Given the description of an element on the screen output the (x, y) to click on. 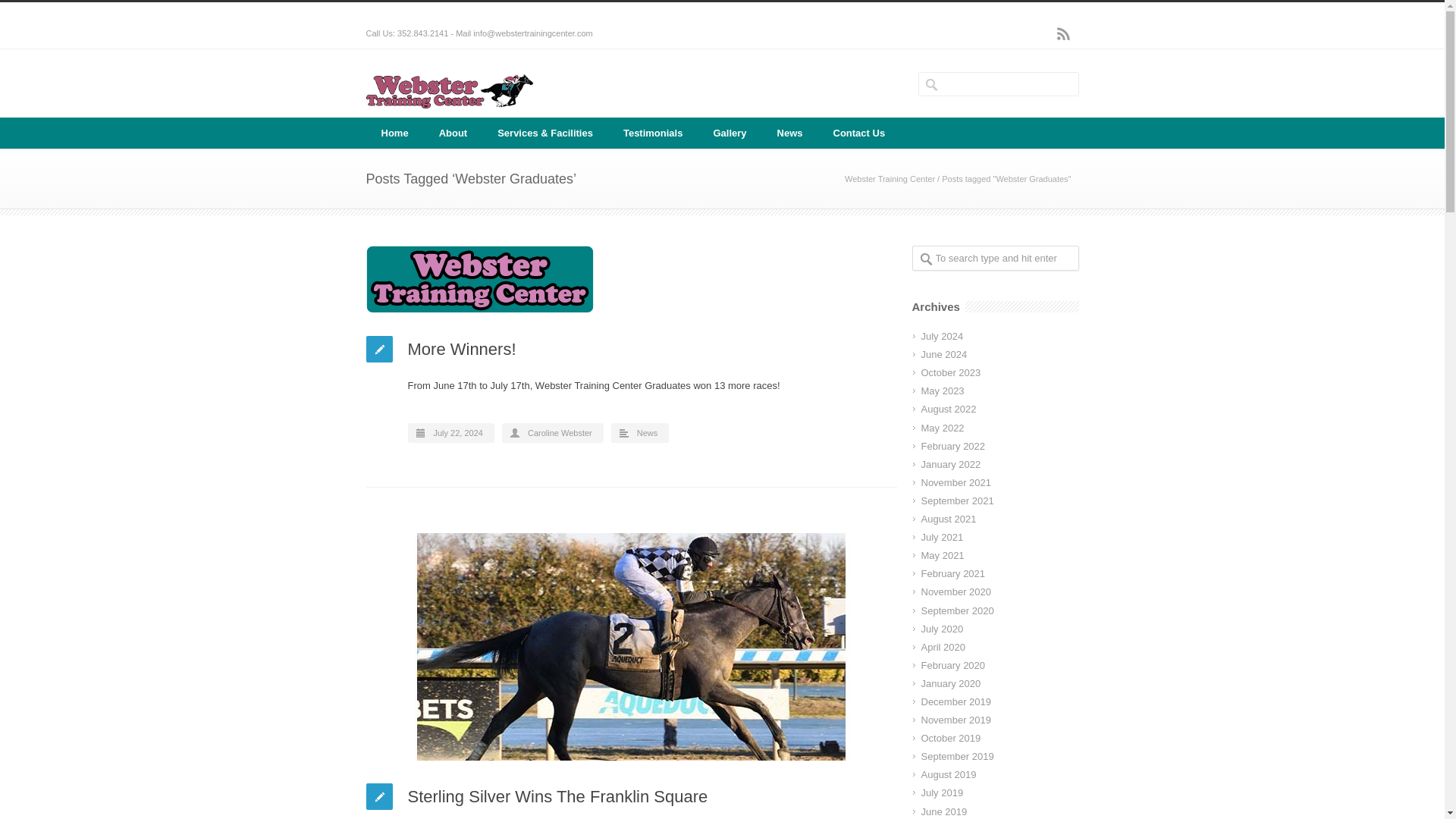
Gallery (729, 132)
RSS (1063, 33)
Sterling Silver Wins The Franklin Square (557, 796)
Webster Training Center (889, 178)
Caroline Webster (559, 432)
Permalink to More Winners! (630, 278)
News (789, 132)
To search type and hit enter (994, 258)
More Winners! (461, 348)
Testimonials (653, 132)
Permalink to Sterling Silver Wins The Franklin Square (557, 796)
Search (68, 11)
Home (394, 132)
Permalink to Sterling Silver Wins The Franklin Square (630, 646)
Contact Us (857, 132)
